Given the description of an element on the screen output the (x, y) to click on. 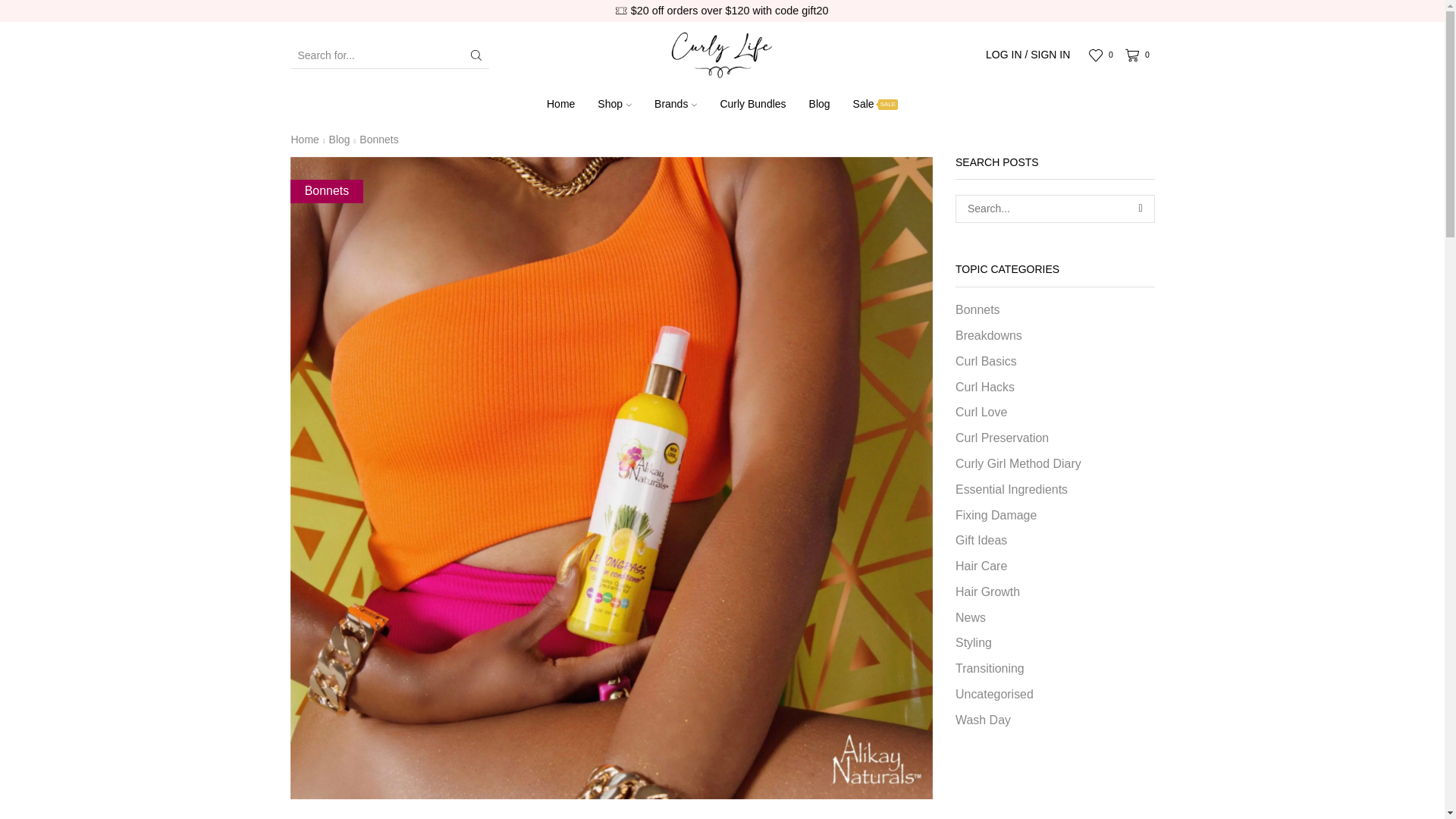
Shop (614, 104)
Home (560, 104)
0 (1103, 55)
Log in (955, 266)
0 (1139, 55)
